Given the description of an element on the screen output the (x, y) to click on. 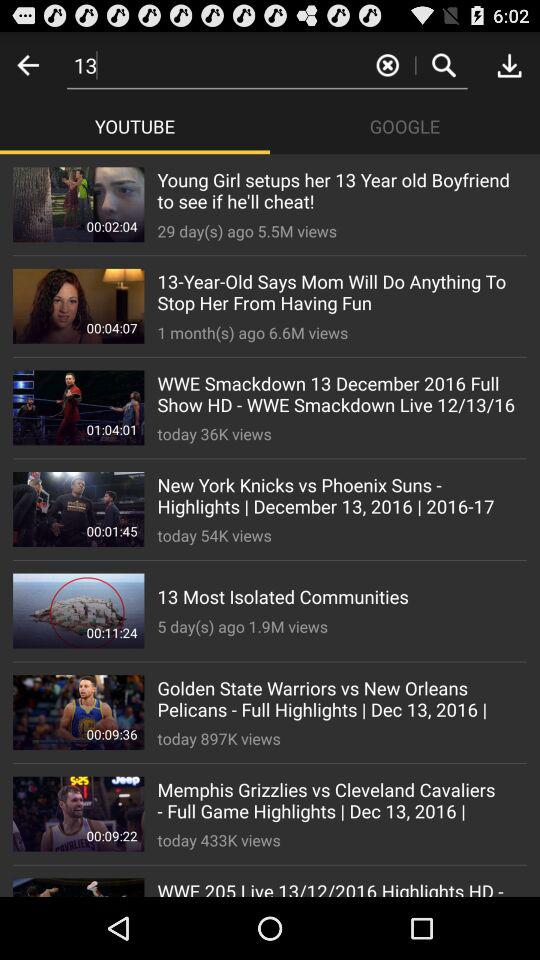
search this site (443, 64)
